Given the description of an element on the screen output the (x, y) to click on. 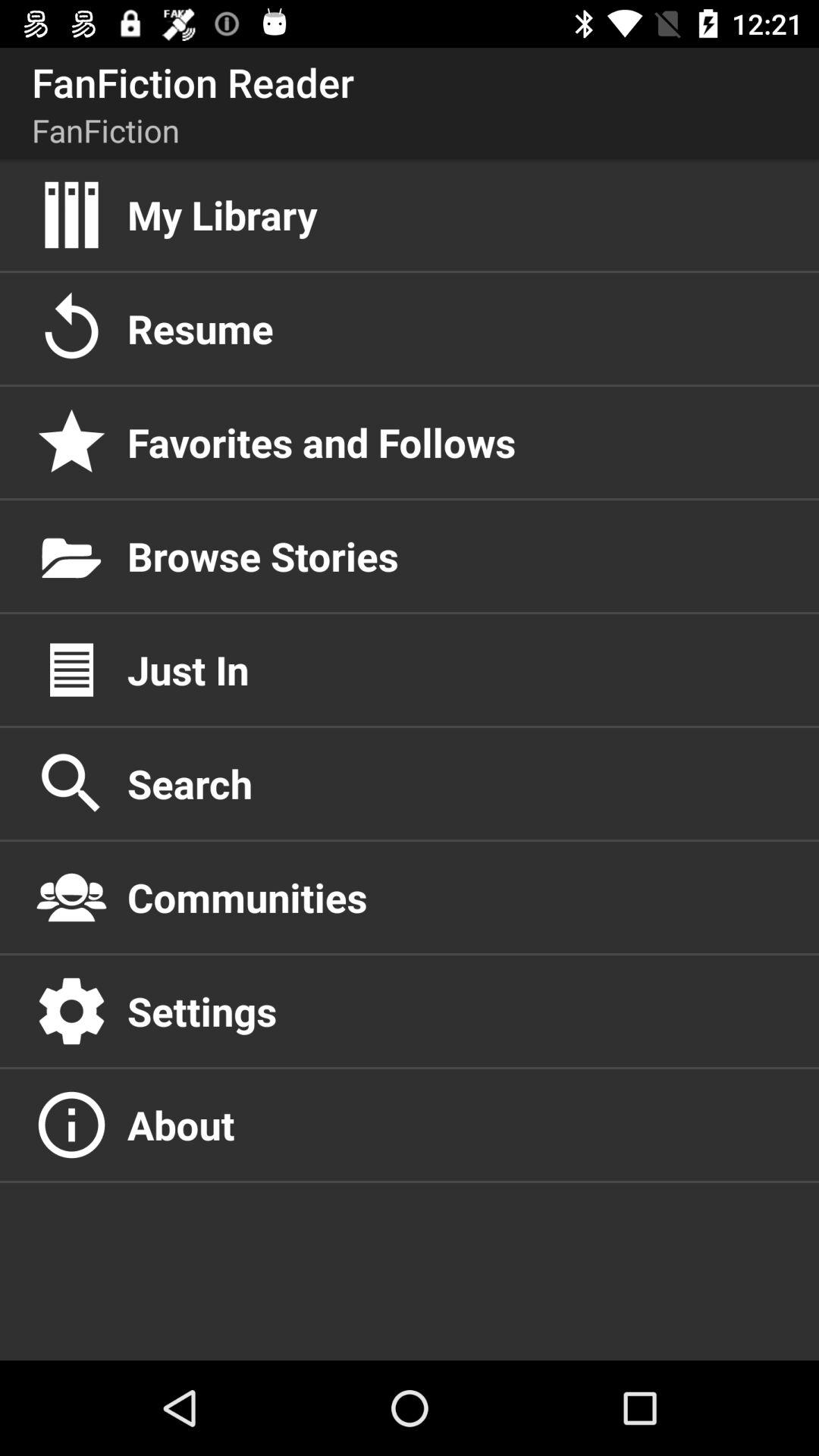
jump until the about (457, 1124)
